Given the description of an element on the screen output the (x, y) to click on. 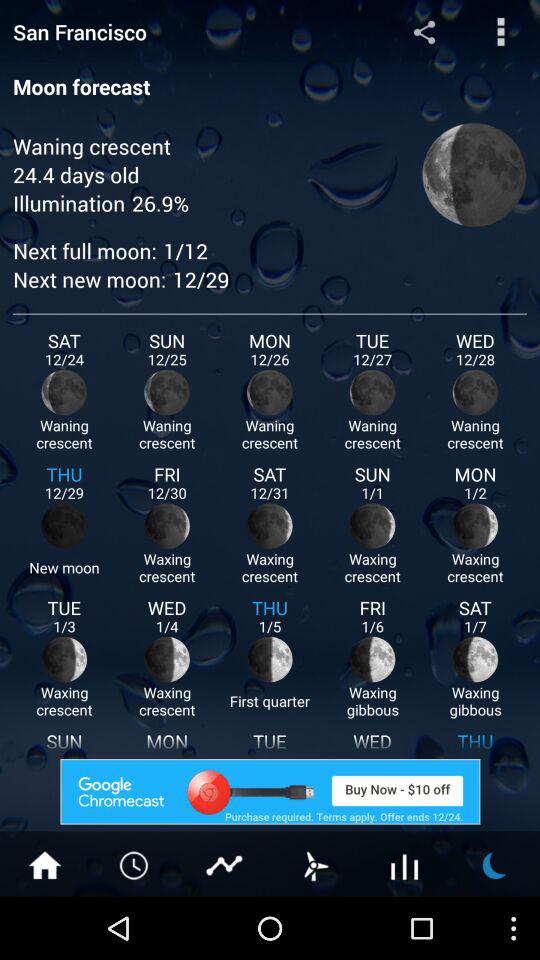
adjust time (135, 864)
